Given the description of an element on the screen output the (x, y) to click on. 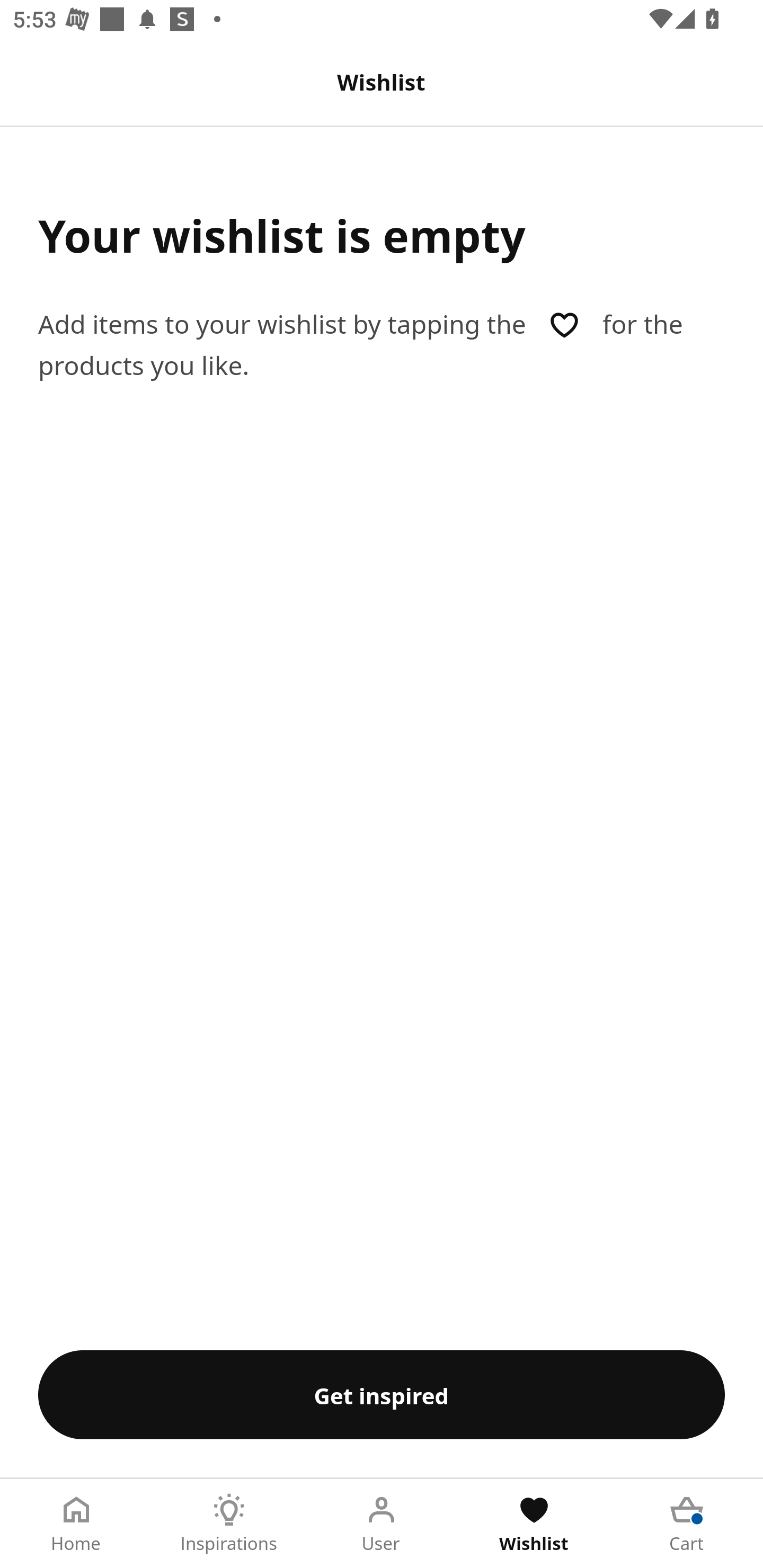
Get inspired (381, 1394)
Home
Tab 1 of 5 (76, 1522)
Inspirations
Tab 2 of 5 (228, 1522)
User
Tab 3 of 5 (381, 1522)
Wishlist
Tab 4 of 5 (533, 1522)
Cart
Tab 5 of 5 (686, 1522)
